Given the description of an element on the screen output the (x, y) to click on. 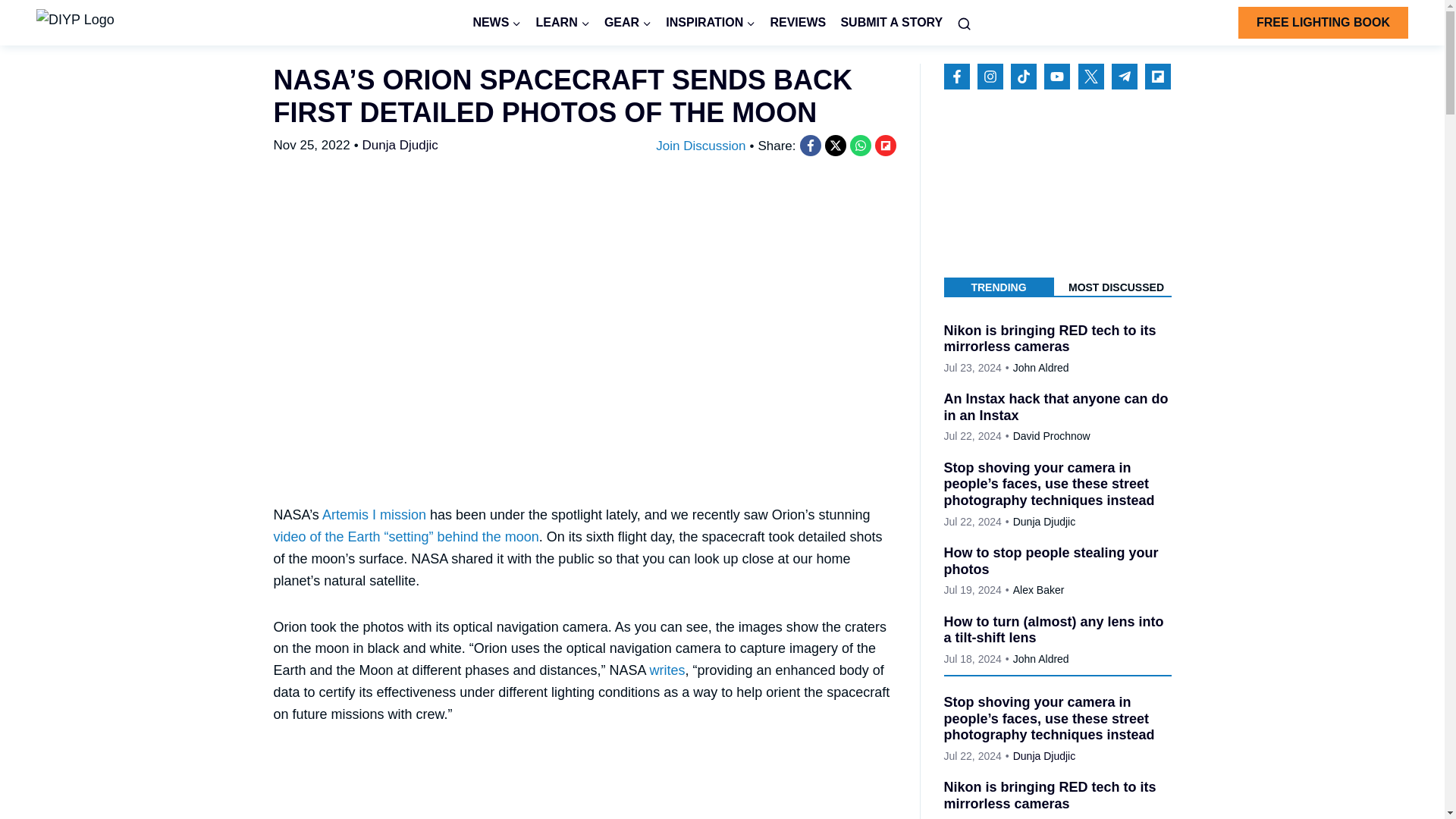
NEWS (496, 22)
Search articles (964, 22)
